Given the description of an element on the screen output the (x, y) to click on. 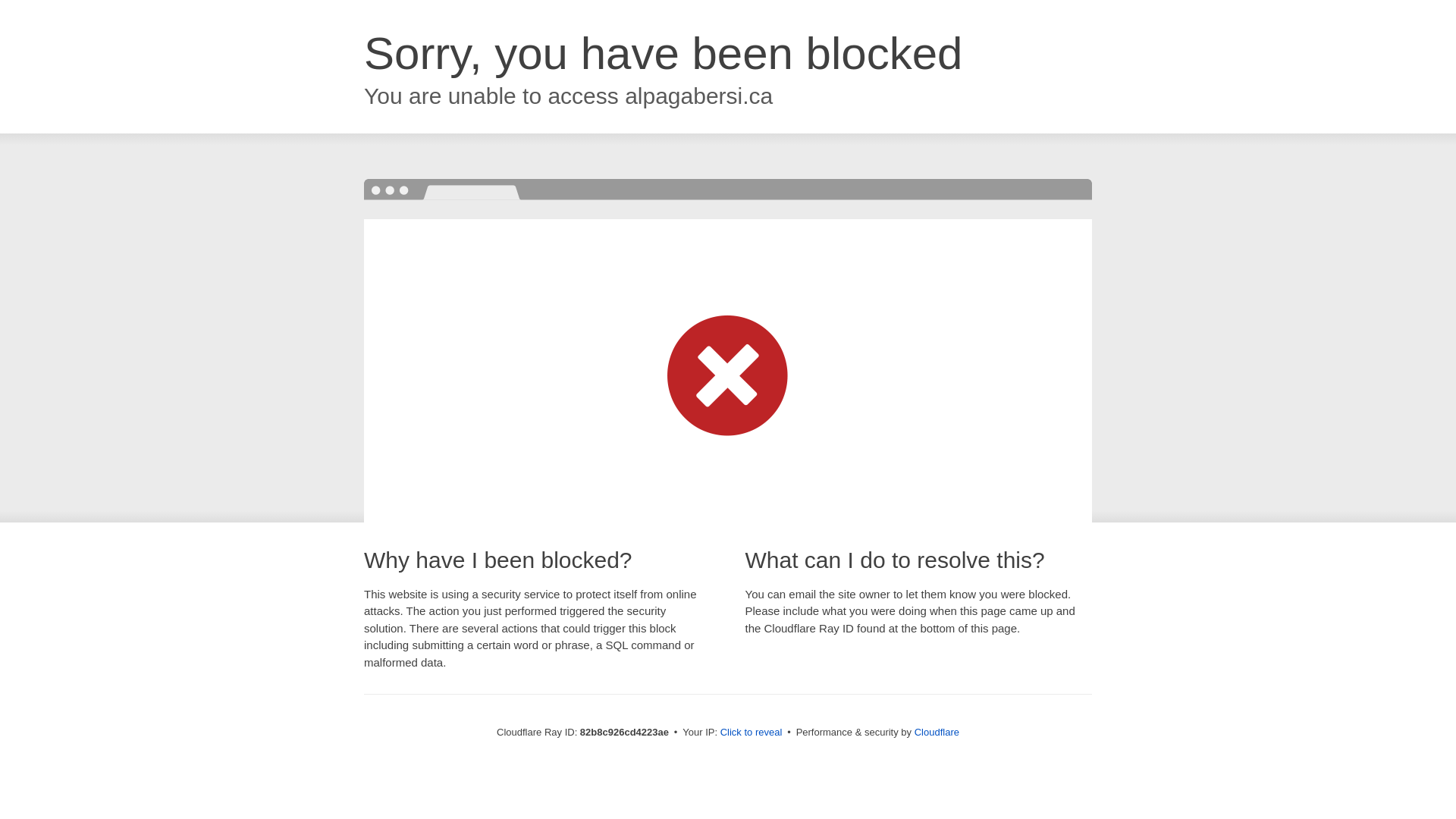
Cloudflare Element type: text (936, 731)
Click to reveal Element type: text (751, 732)
